Given the description of an element on the screen output the (x, y) to click on. 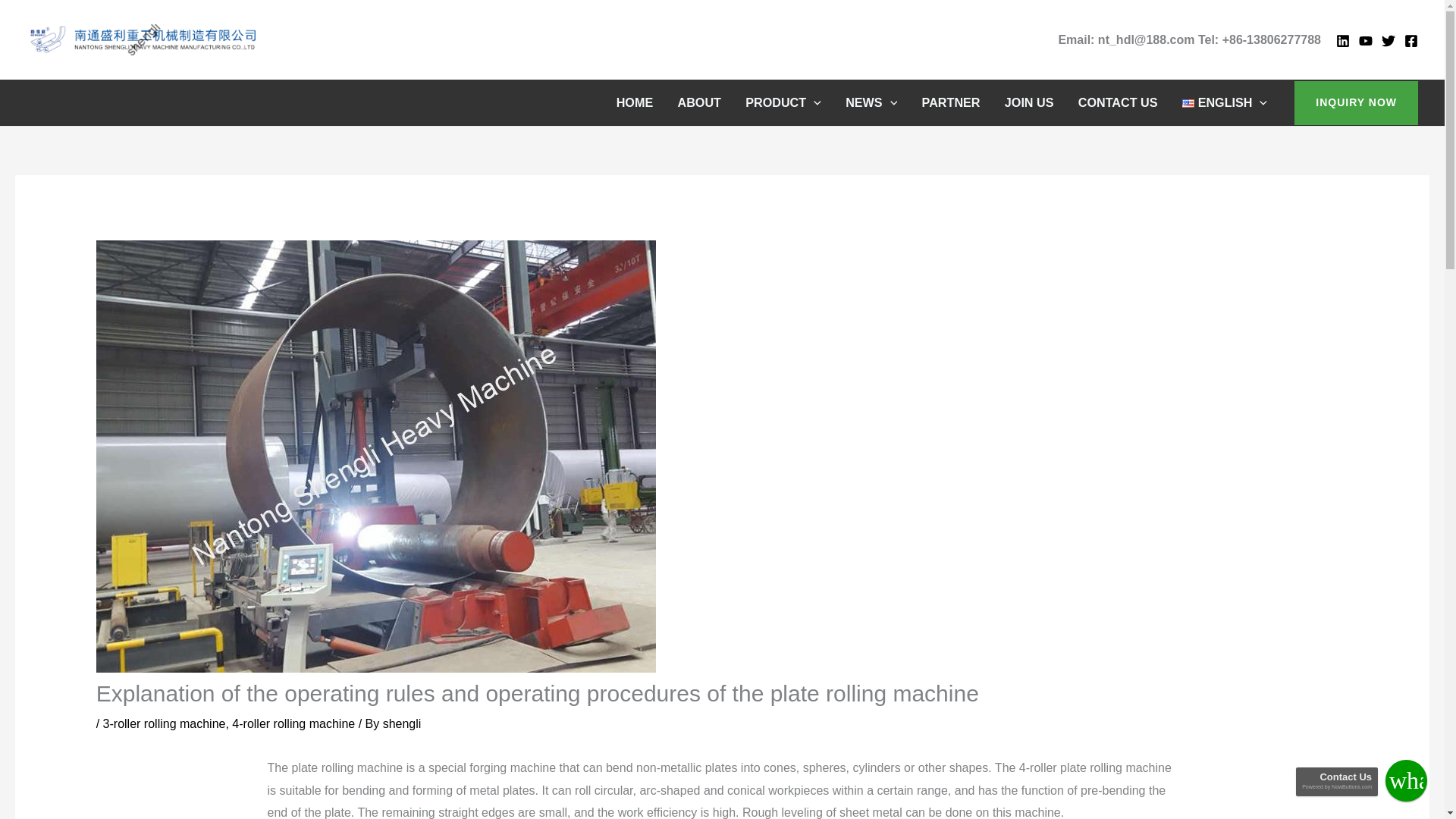
ABOUT (699, 102)
PARTNER (949, 102)
JOIN US (1028, 102)
PRODUCT (782, 102)
HOME (634, 102)
ENGLISH (1224, 102)
